Given the description of an element on the screen output the (x, y) to click on. 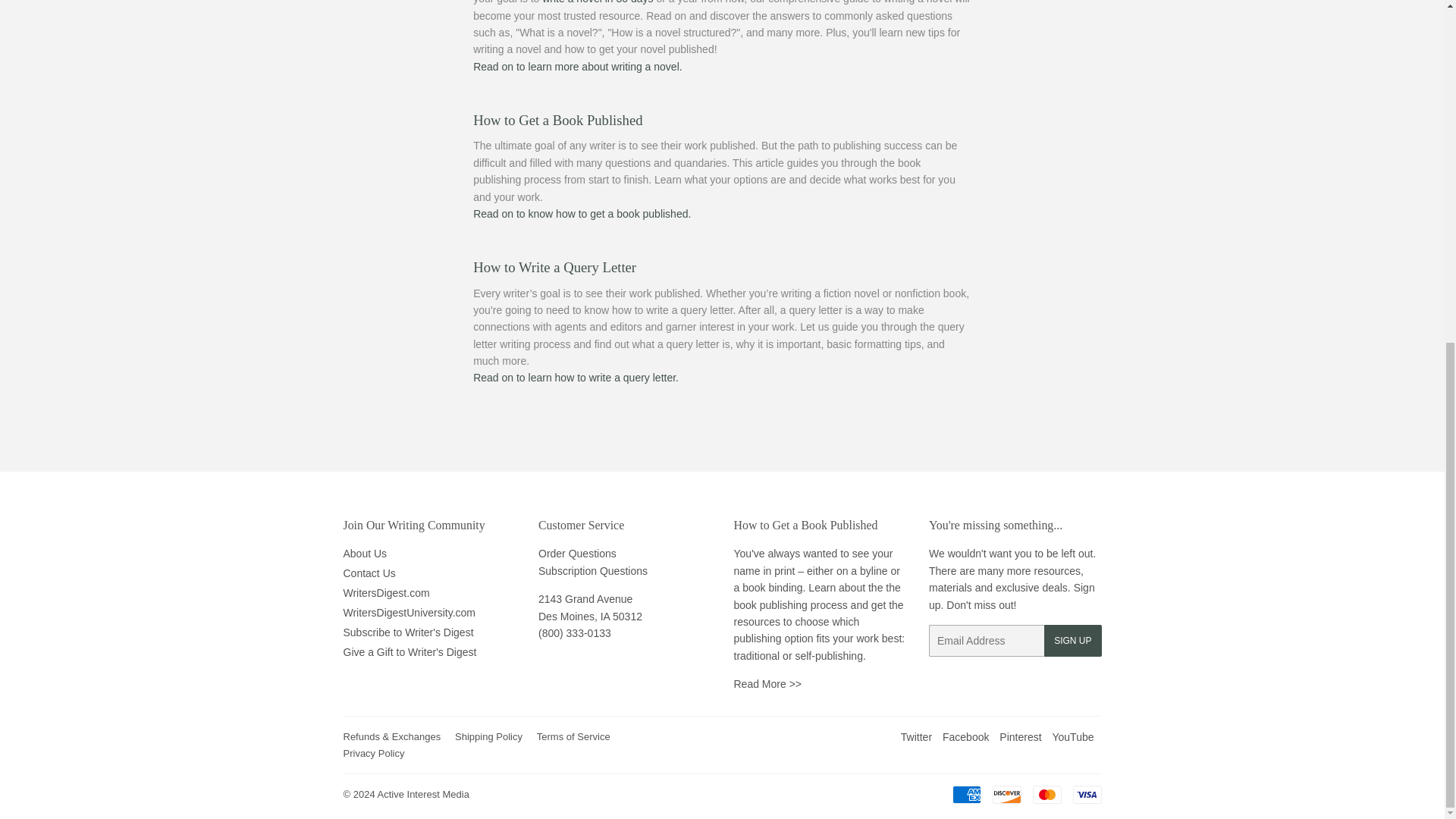
Contact Us (576, 553)
Let us guide you through the query letter writing process (554, 267)
Mastercard (1046, 794)
Customer Service (574, 633)
Magazine Self Service (592, 571)
How to get published (581, 214)
Writing a novel (577, 66)
Visa (1085, 794)
Here are some options for getting your book published (557, 119)
Discover (1005, 794)
